Given the description of an element on the screen output the (x, y) to click on. 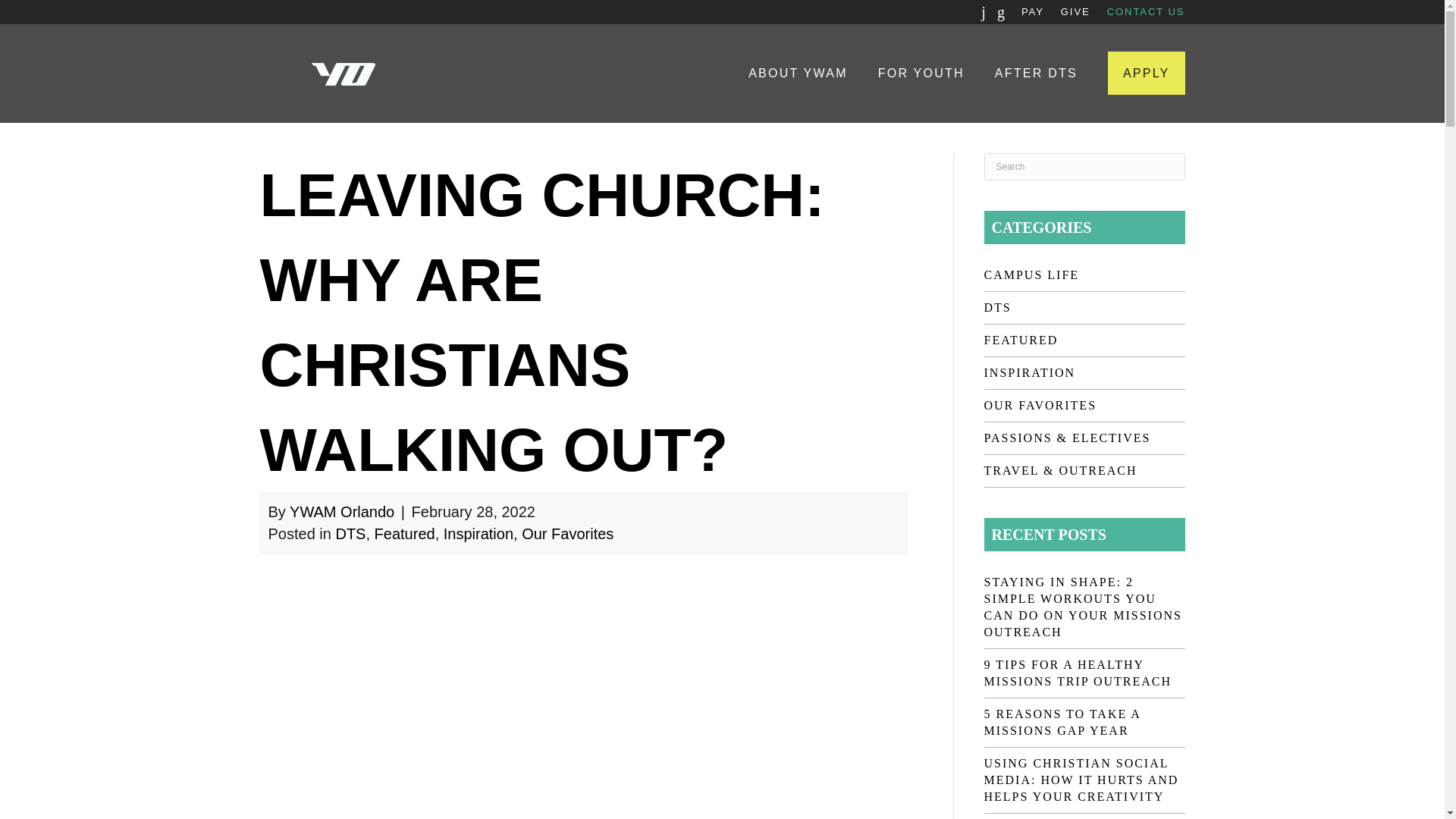
YouTube video player (501, 710)
PAY (1032, 12)
YWAM Orlando (341, 511)
AFTER DTS (1035, 72)
Our Favorites (566, 533)
Inspiration (478, 533)
FEATURED (1084, 340)
CAMPUS LIFE (1084, 275)
DTS (349, 533)
DTS (1084, 307)
